Given the description of an element on the screen output the (x, y) to click on. 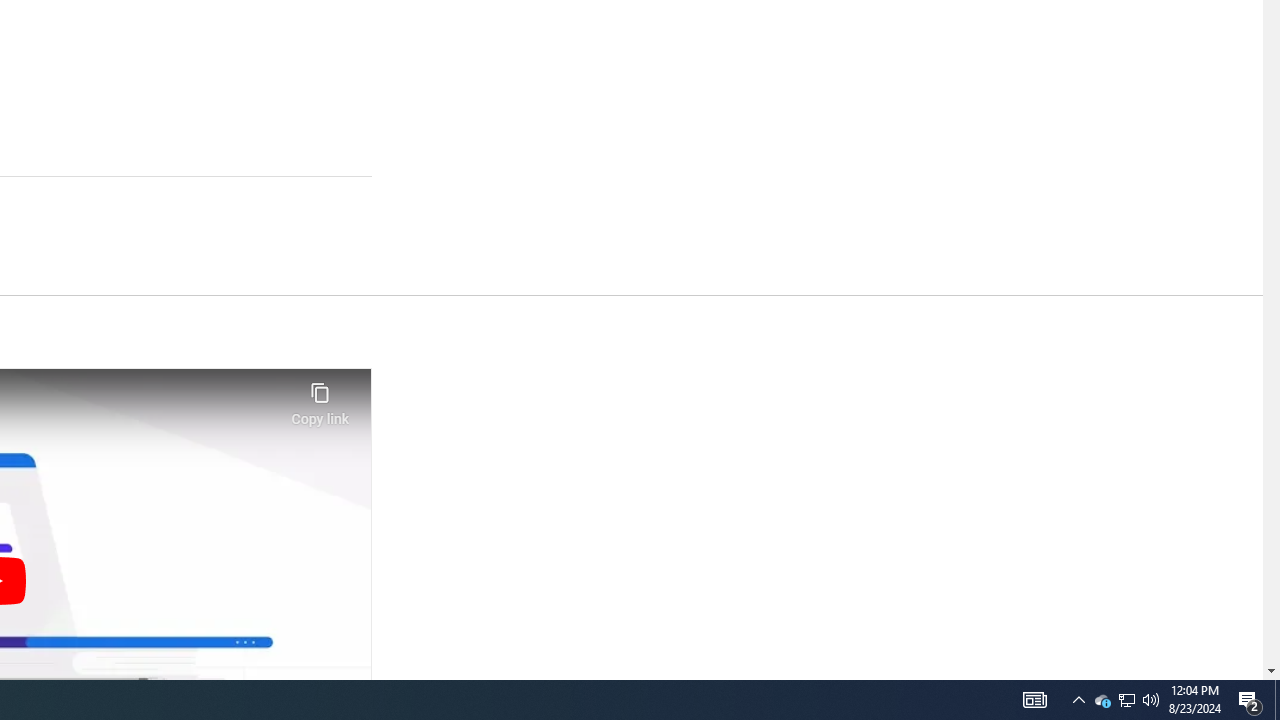
Copy link (319, 398)
